Given the description of an element on the screen output the (x, y) to click on. 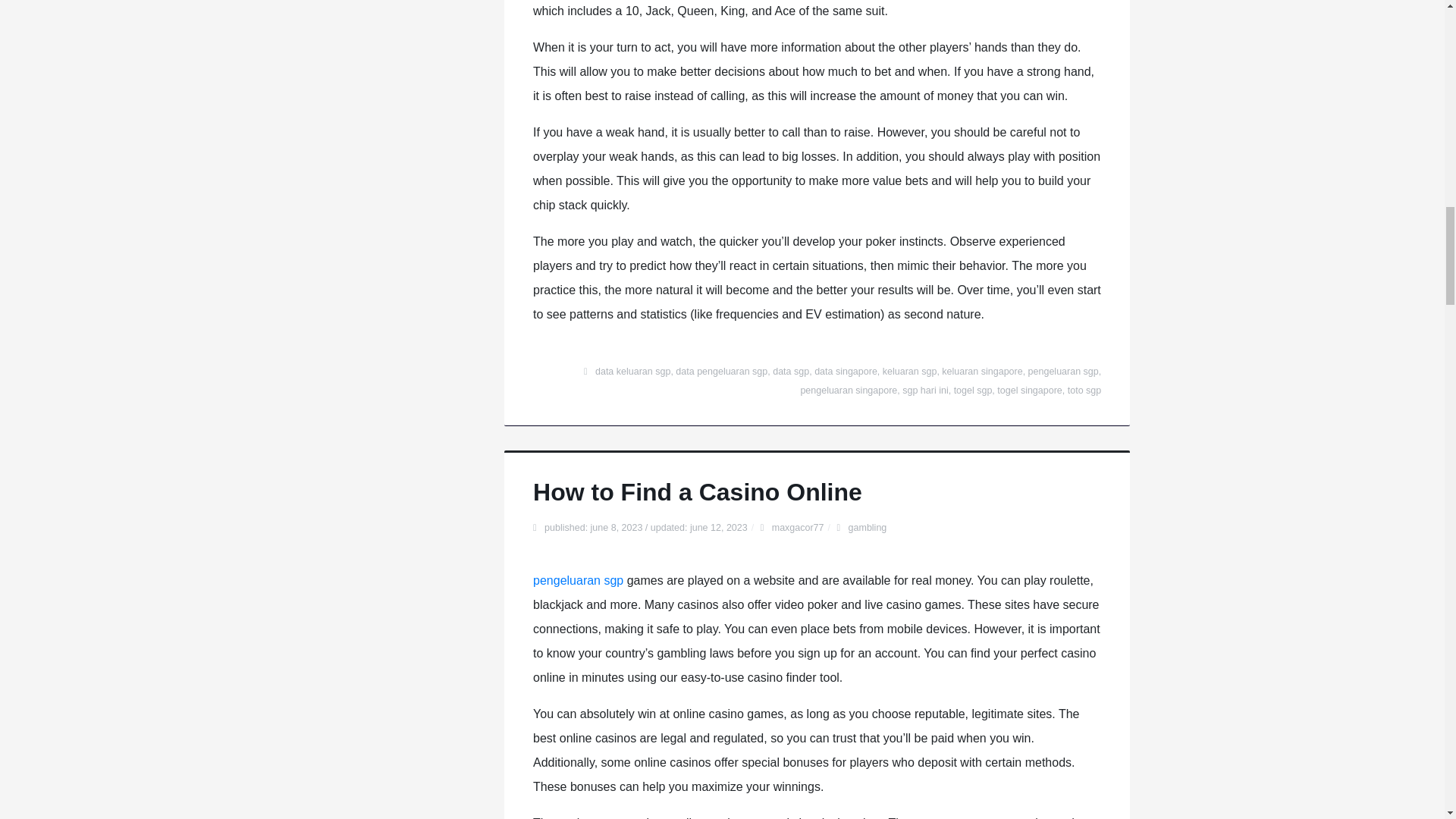
keluaran sgp (909, 371)
togel singapore (1029, 389)
maxgacor77 (797, 527)
togel sgp (972, 389)
data pengeluaran sgp (721, 371)
sgp hari ini (924, 389)
gambling (867, 527)
data keluaran sgp (632, 371)
How to Find a Casino Online (696, 491)
toto sgp (1083, 389)
